Given the description of an element on the screen output the (x, y) to click on. 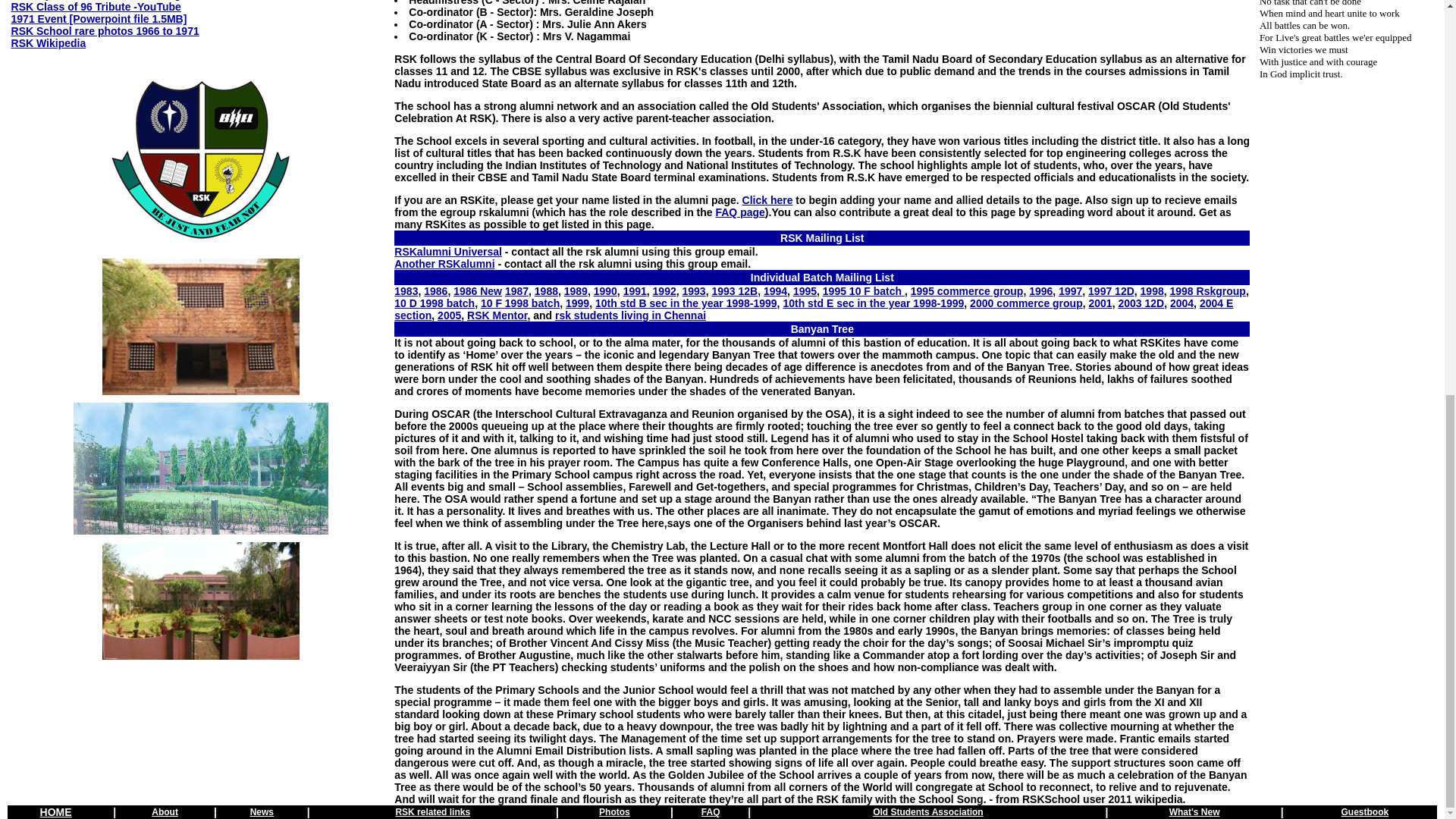
RSK Wikipedia (48, 42)
RSK School rare photos 1966 to 1971 (105, 30)
RSK Class of 96 Tribute -YouTube (95, 6)
